Given the description of an element on the screen output the (x, y) to click on. 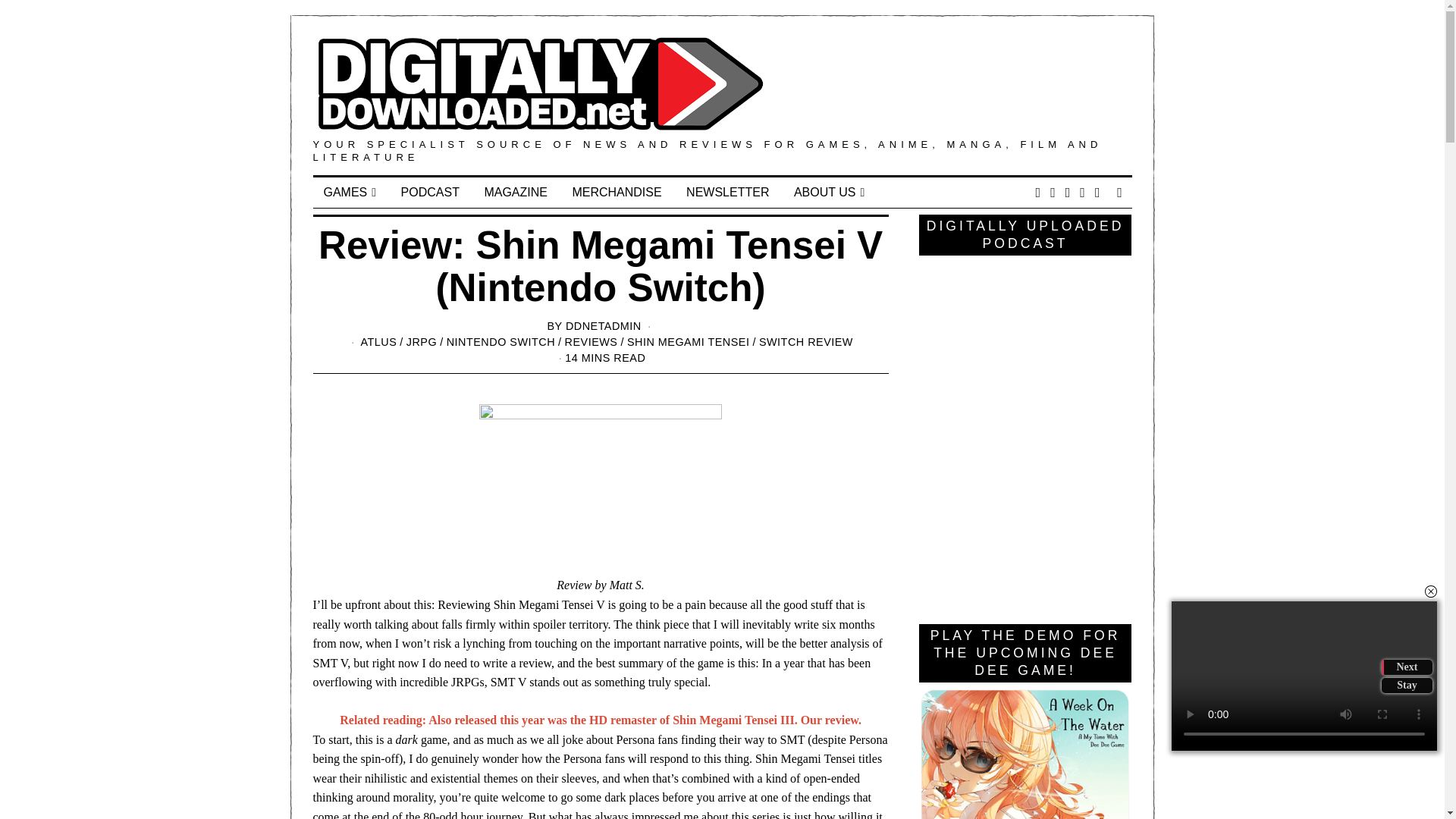
REVIEWS (590, 341)
MAGAZINE (515, 192)
MERCHANDISE (615, 192)
DDNETADMIN (604, 326)
ATLUS (377, 341)
ABOUT US (829, 192)
SHIN MEGAMI TENSEI (688, 341)
PODCAST (430, 192)
JRPG (421, 341)
NINTENDO SWITCH (500, 341)
GAMES (350, 192)
SWITCH REVIEW (805, 341)
NEWSLETTER (726, 192)
